Given the description of an element on the screen output the (x, y) to click on. 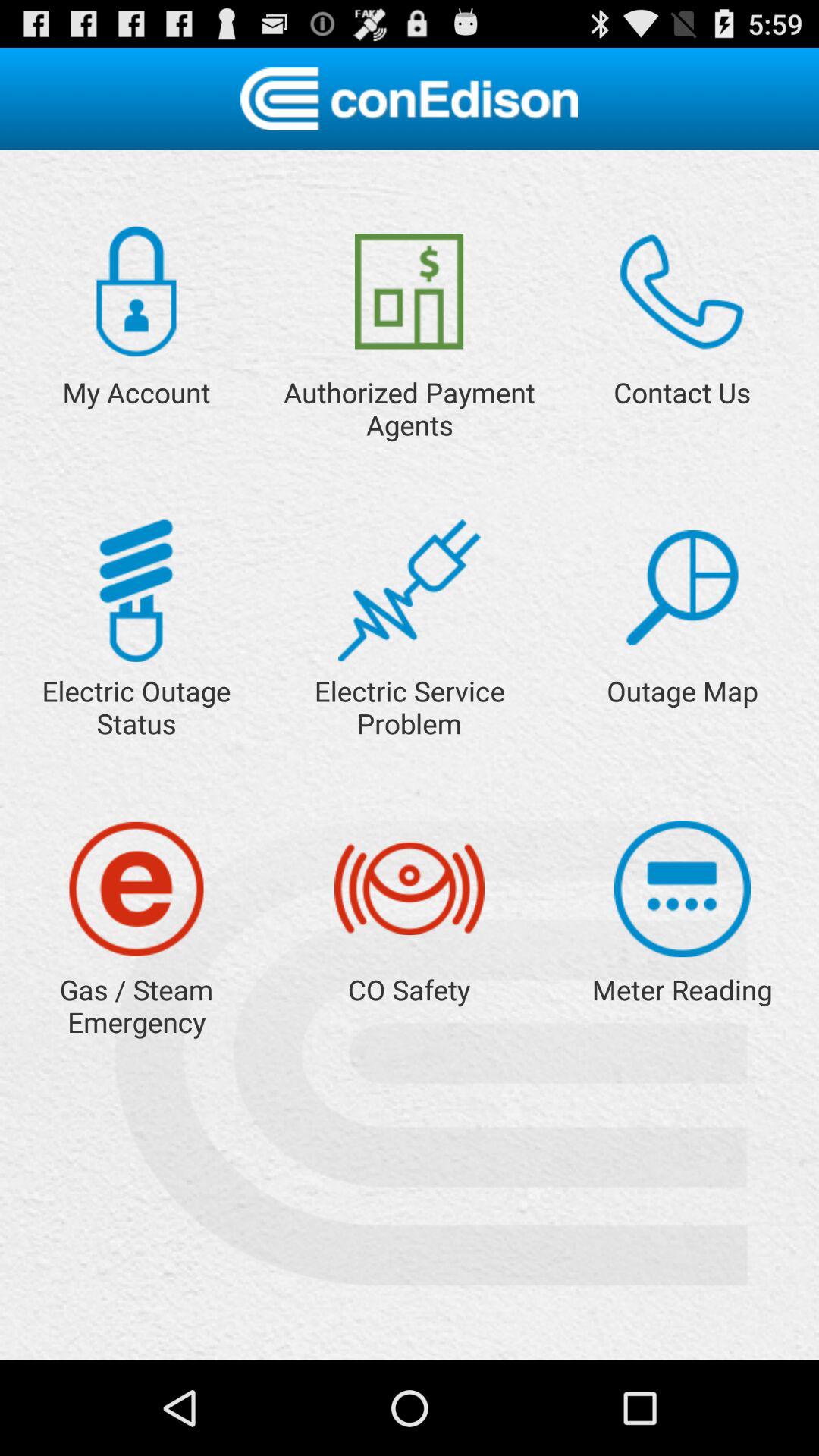
press item to the right of my account item (408, 291)
